Given the description of an element on the screen output the (x, y) to click on. 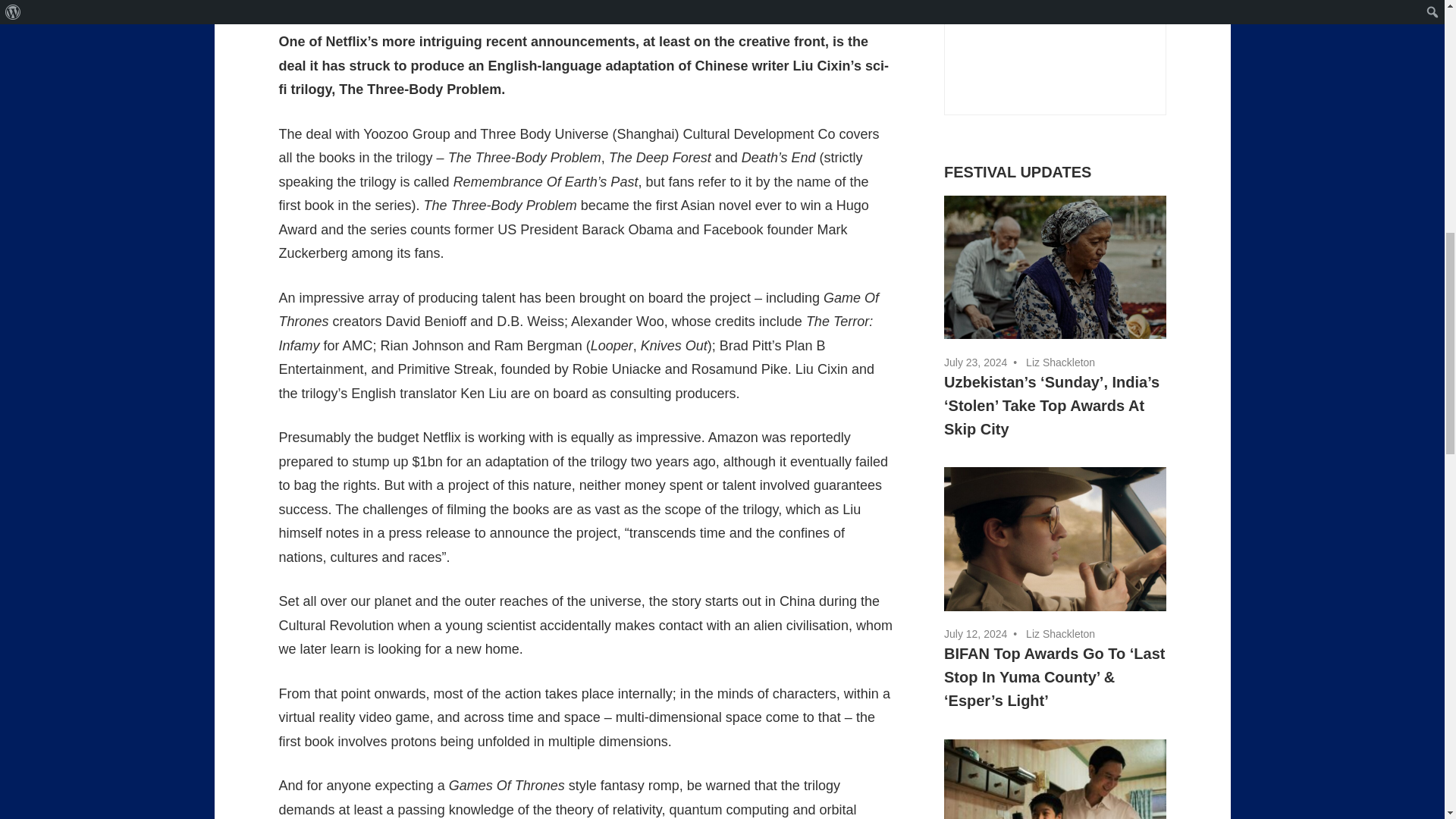
View all posts from category FESTIVALS (1016, 171)
7:04 pm (975, 633)
View all posts by Liz Shackleton (1060, 362)
Liz Shackleton (381, 3)
1:30 am (975, 362)
View all posts by Liz Shackleton (1060, 633)
View all posts by Liz Shackleton (381, 3)
